Given the description of an element on the screen output the (x, y) to click on. 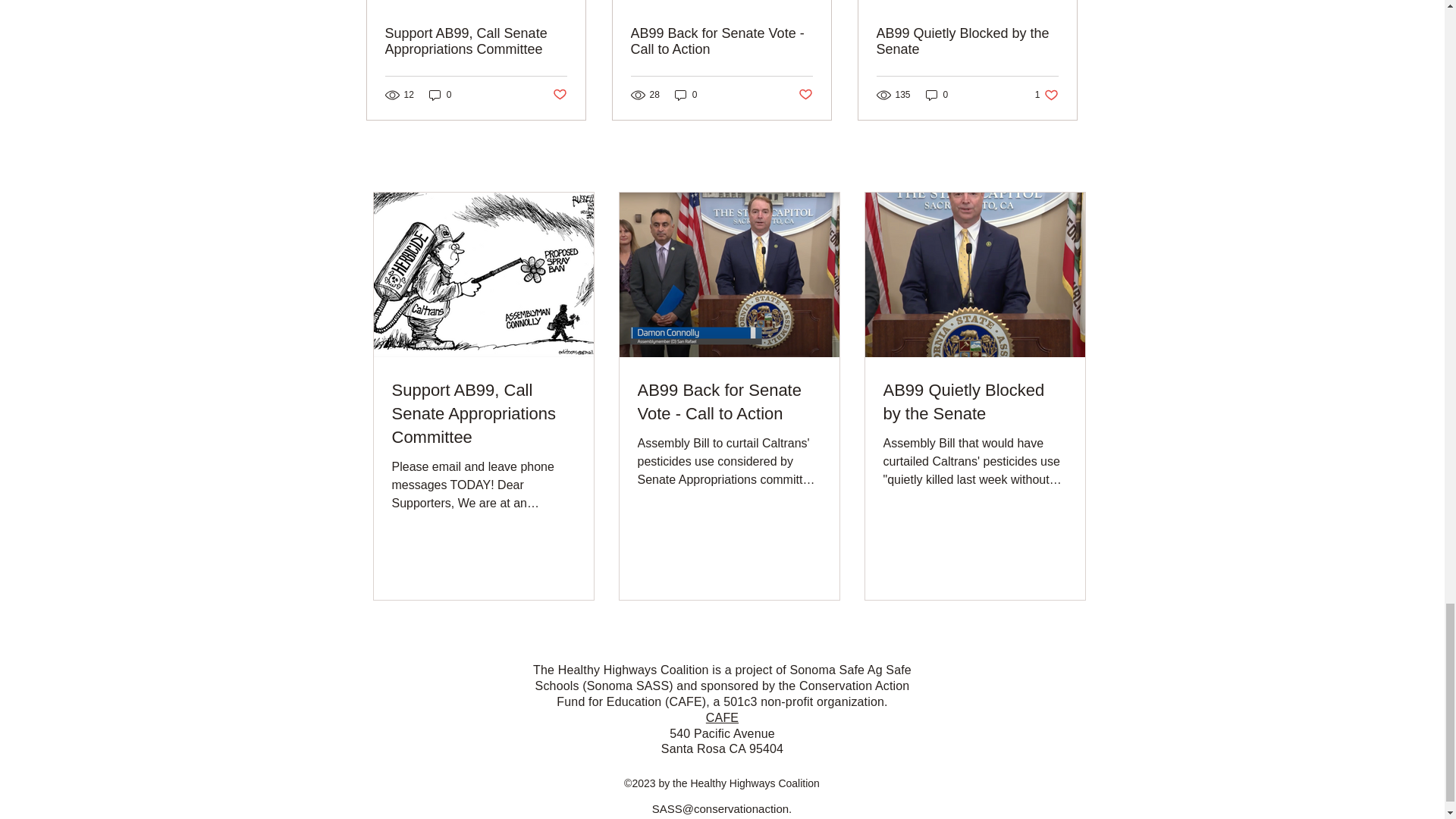
Post not marked as liked (558, 94)
0 (440, 94)
AB99 Back for Senate Vote - Call to Action (721, 41)
AB99 Back for Senate Vote - Call to Action (729, 402)
CAFE (722, 717)
0 (937, 94)
Post not marked as liked (1046, 94)
AB99 Quietly Blocked by the Senate (804, 94)
0 (967, 41)
